Given the description of an element on the screen output the (x, y) to click on. 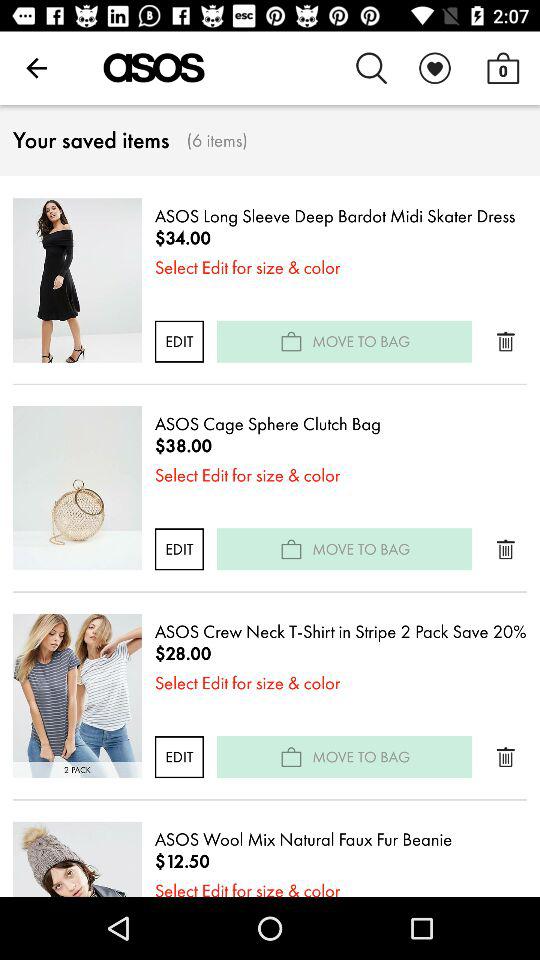
click on the icon which is left of move to bag (291, 548)
go to the icon left to move to bag in third row (291, 756)
select first delete button which is on the right side of the page (505, 342)
